Given the description of an element on the screen output the (x, y) to click on. 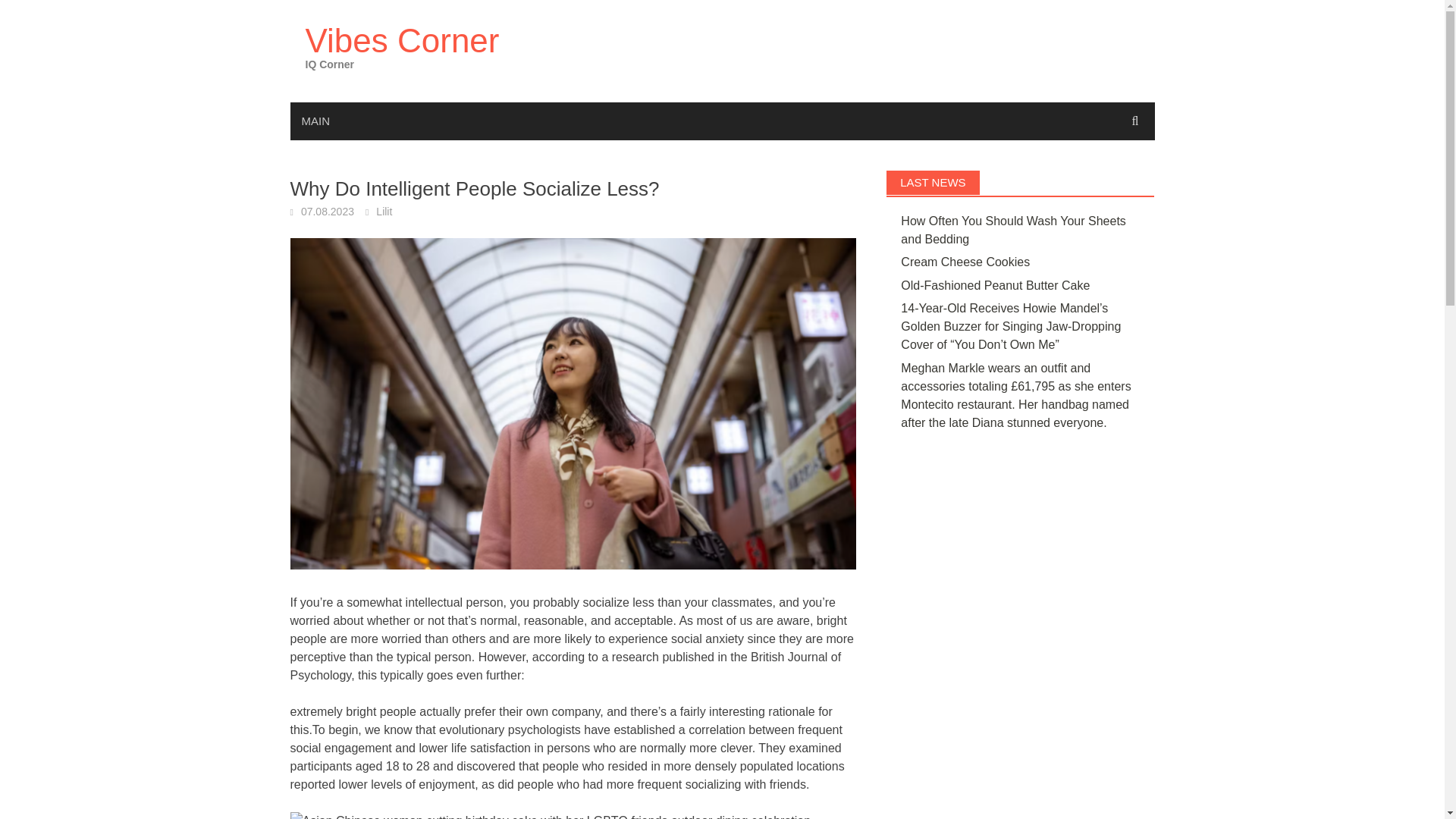
Old-Fashioned Peanut Butter Cake (995, 285)
How Often You Should Wash Your Sheets and Bedding (1013, 229)
07.08.2023 (327, 211)
Lilit (383, 211)
MAIN (314, 121)
Cream Cheese Cookies (965, 261)
Vibes Corner (401, 40)
